Given the description of an element on the screen output the (x, y) to click on. 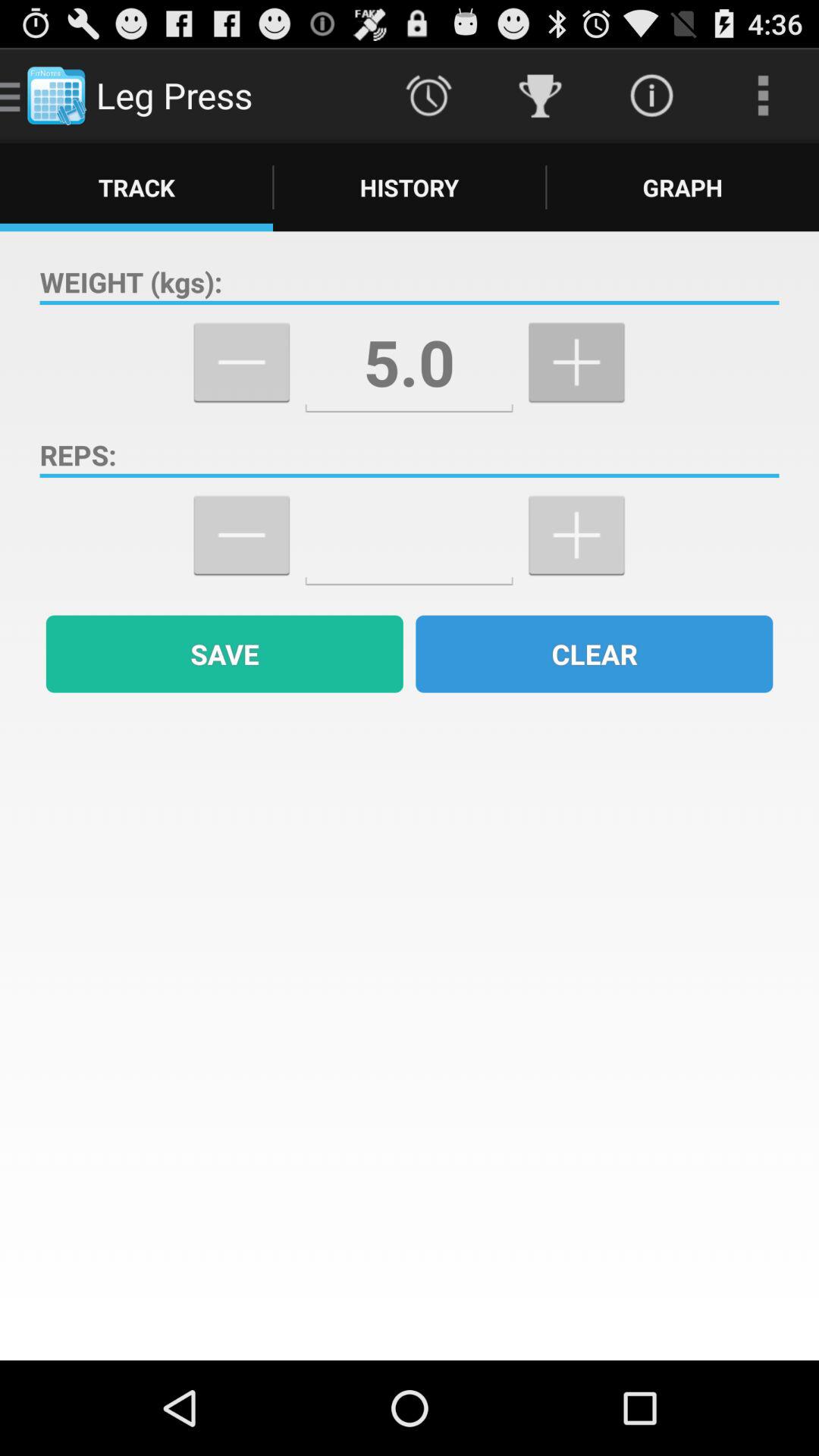
reps entry box (408, 535)
